Given the description of an element on the screen output the (x, y) to click on. 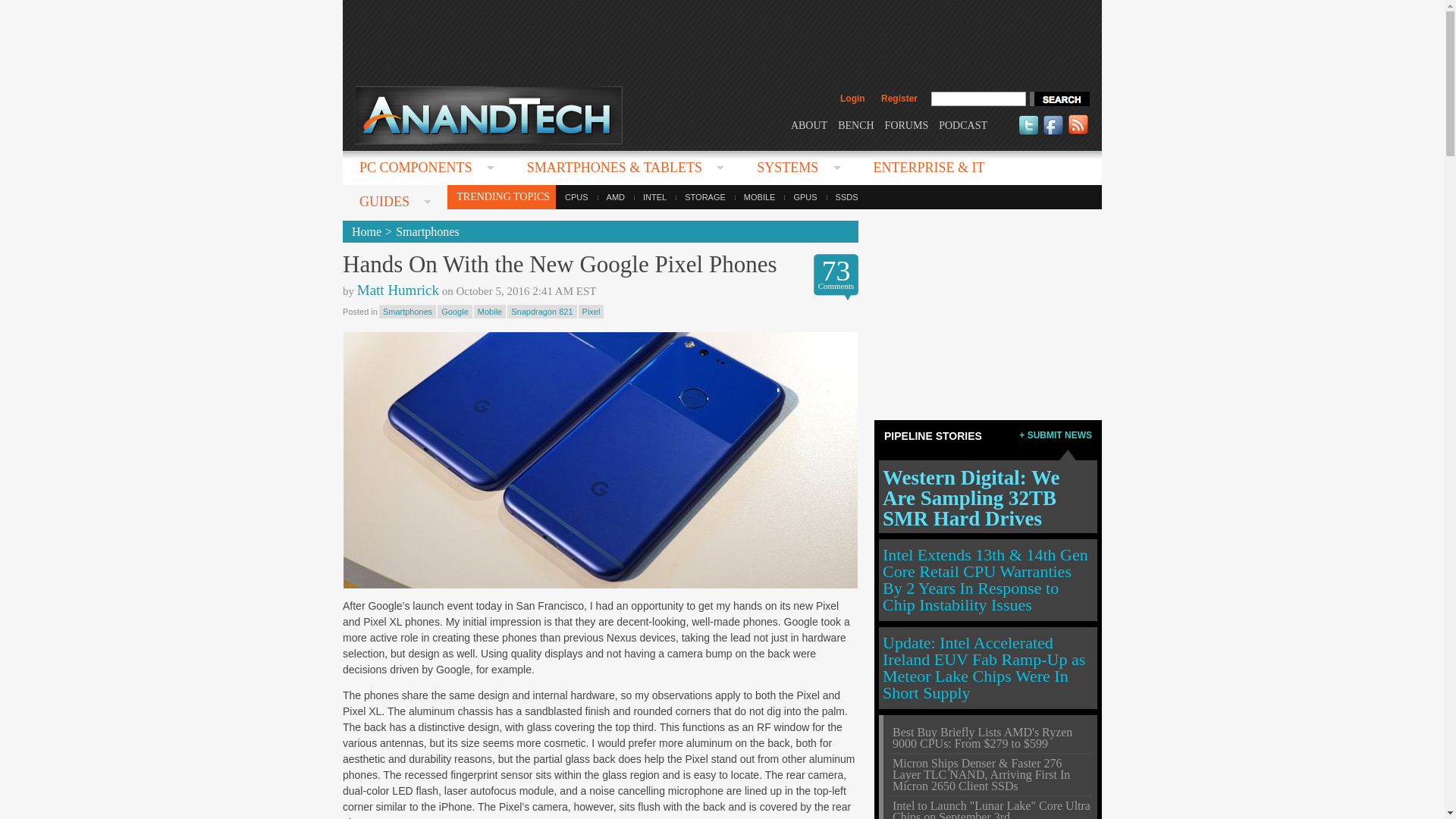
FORUMS (906, 125)
ABOUT (808, 125)
Register (898, 98)
PODCAST (963, 125)
Login (852, 98)
search (1059, 98)
search (1059, 98)
search (1059, 98)
BENCH (855, 125)
